Given the description of an element on the screen output the (x, y) to click on. 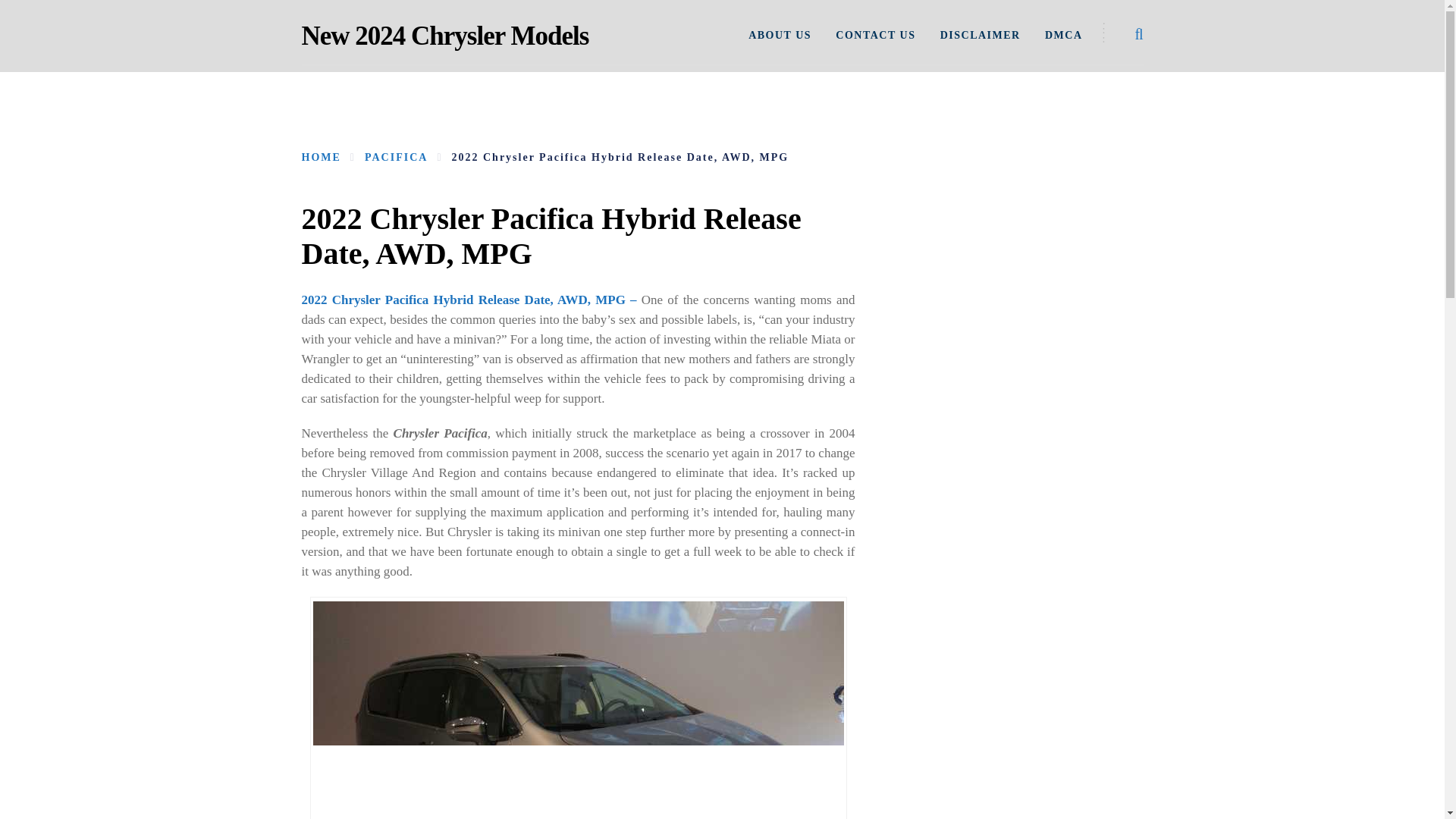
DMCA (1064, 35)
HOME (320, 156)
New 2024 Chrysler Models (445, 35)
CONTACT US (875, 35)
ABOUT US (779, 35)
PACIFICA (396, 156)
DISCLAIMER (980, 35)
